Given the description of an element on the screen output the (x, y) to click on. 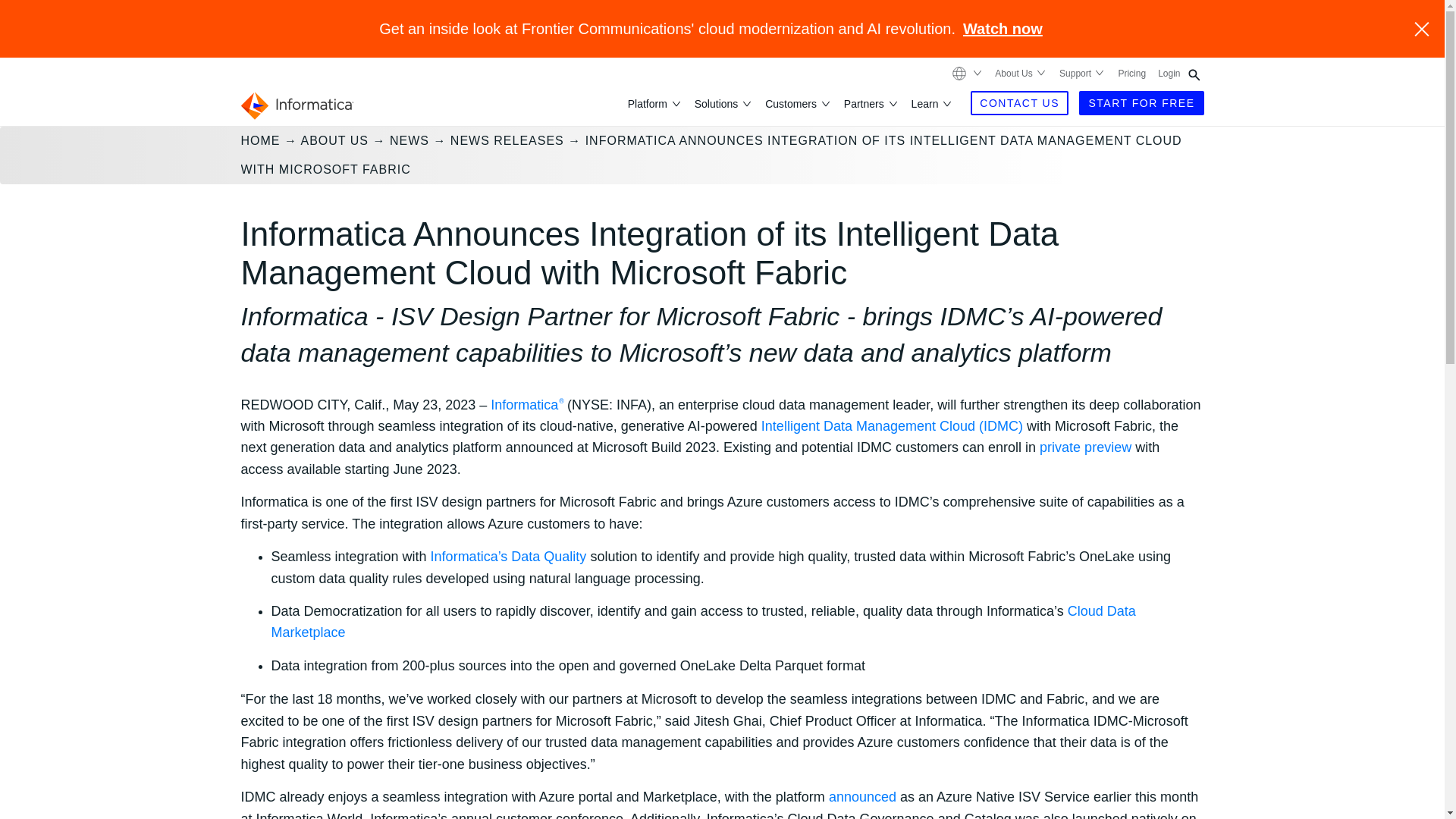
Platform (648, 103)
Solutions (717, 103)
Watch now (1002, 28)
